Given the description of an element on the screen output the (x, y) to click on. 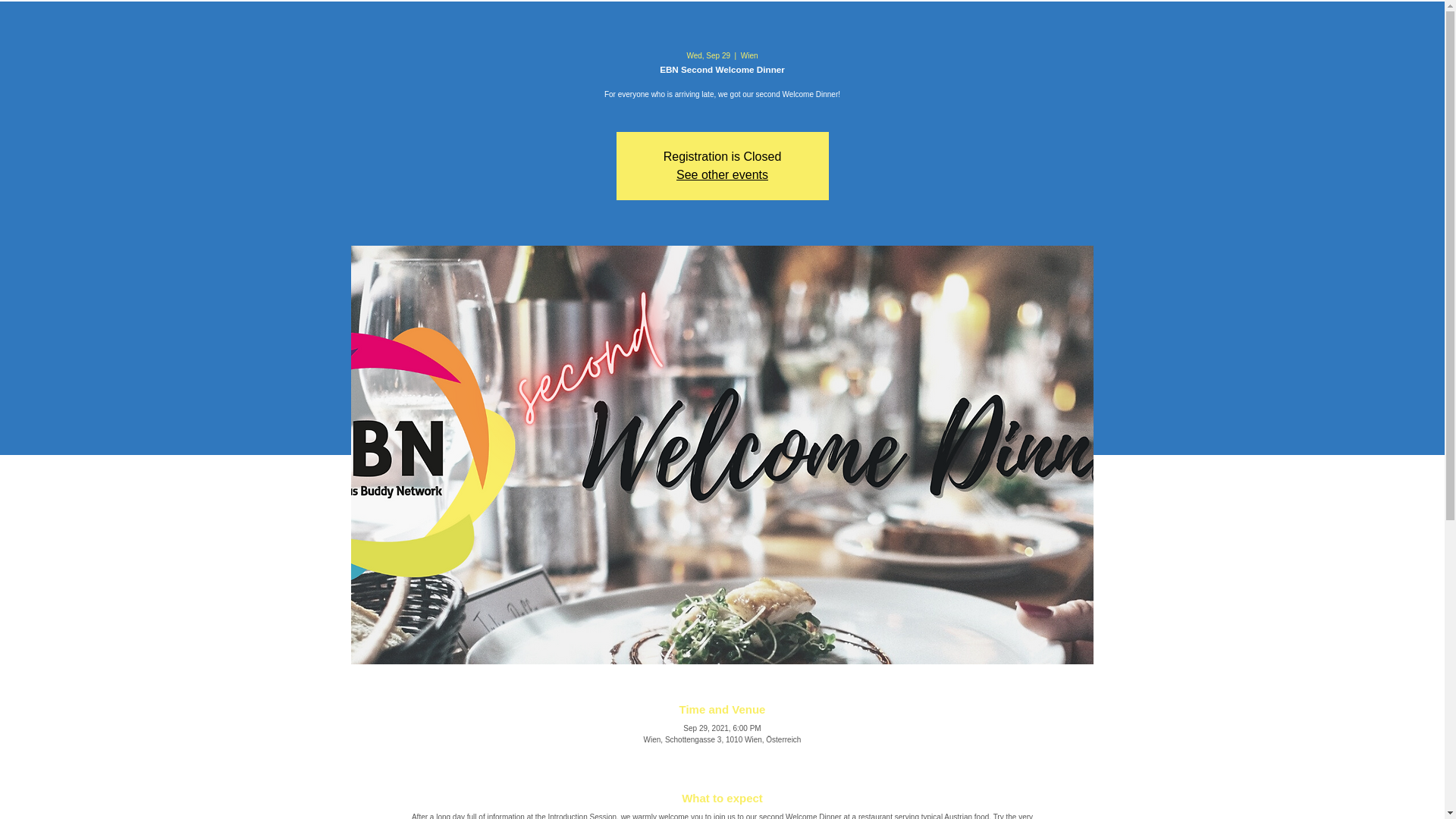
See other events (722, 174)
